Given the description of an element on the screen output the (x, y) to click on. 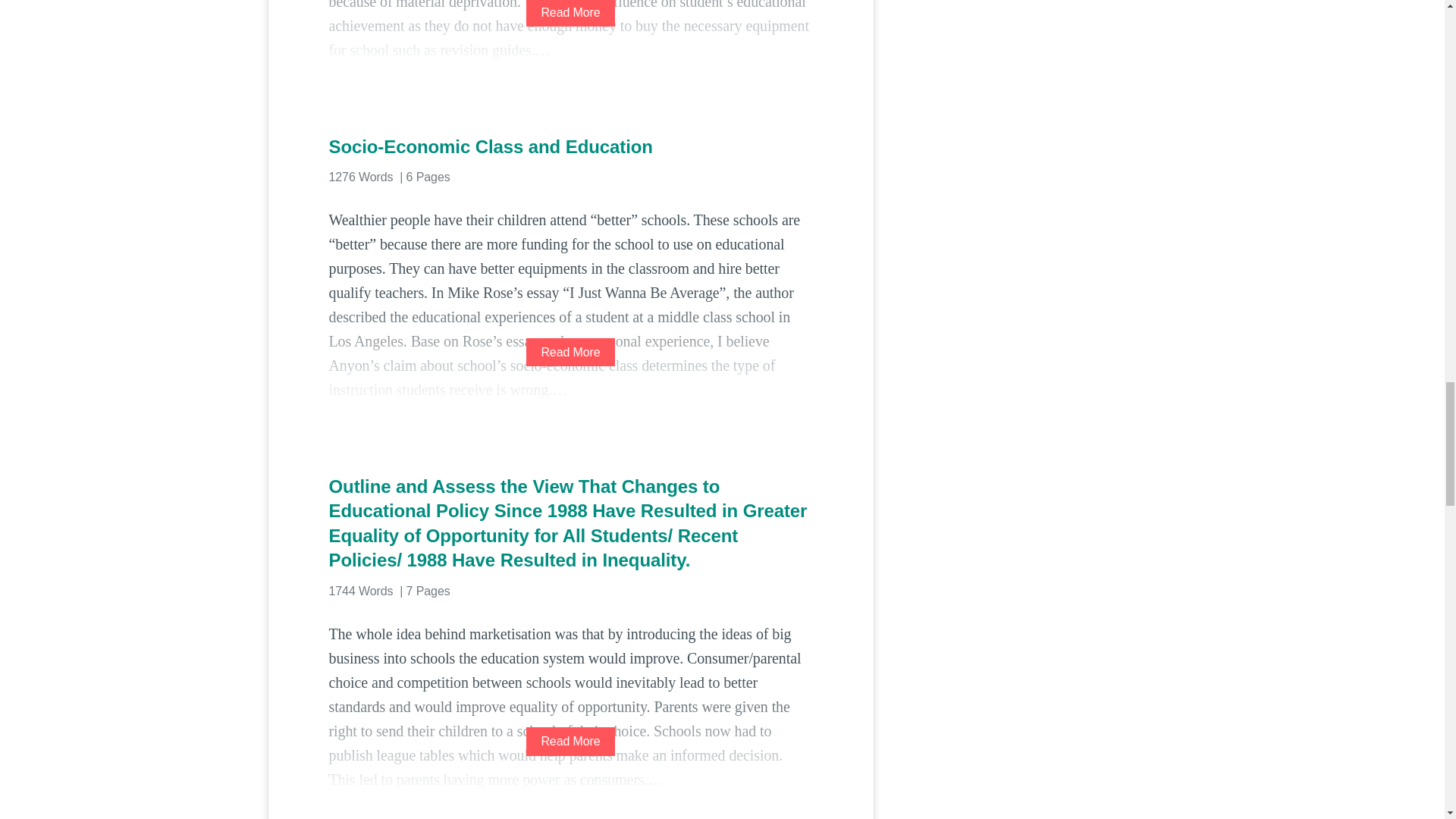
Socio-Economic Class and Education (570, 146)
Read More (569, 352)
Read More (569, 741)
Read More (569, 13)
